Given the description of an element on the screen output the (x, y) to click on. 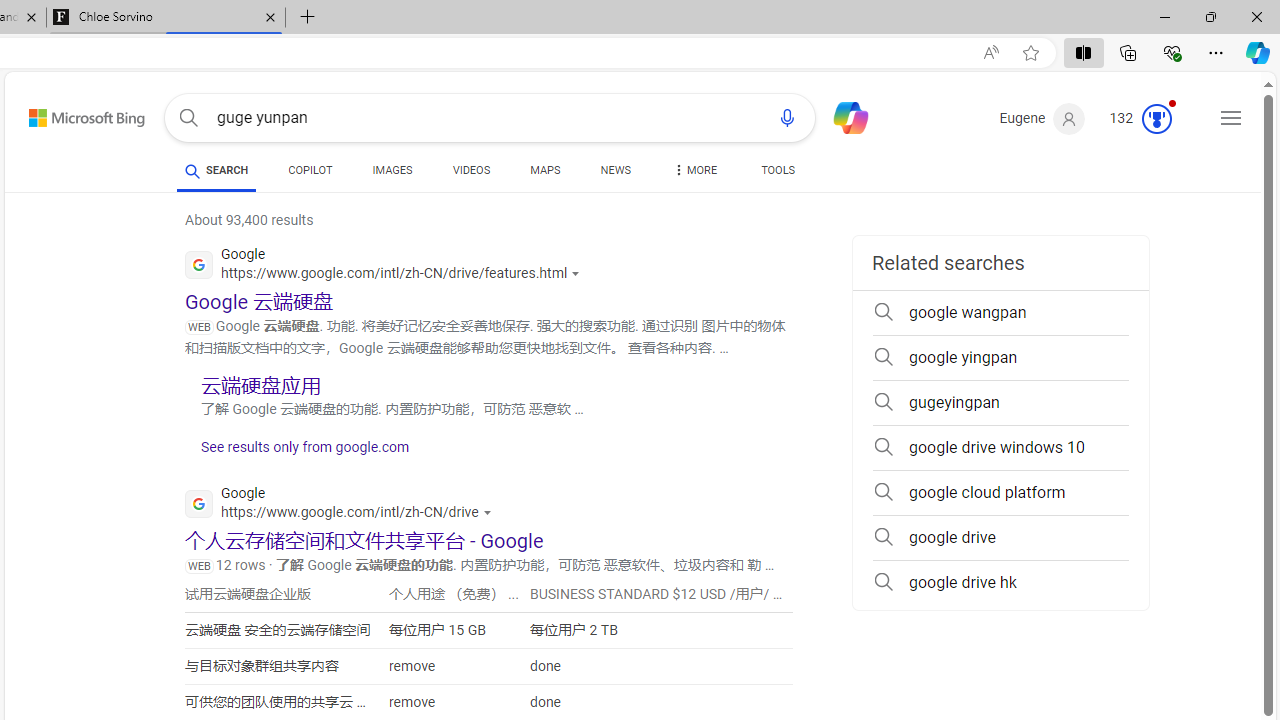
SEARCH (216, 170)
TOOLS (777, 170)
google yingpan (1000, 358)
MAPS (545, 173)
Global web icon (198, 503)
Class: medal-svg-animation (1156, 118)
google wangpan (1000, 312)
TOOLS (777, 173)
Google (343, 506)
Chat (842, 116)
Back to Bing search (74, 113)
Search using voice (787, 117)
